Given the description of an element on the screen output the (x, y) to click on. 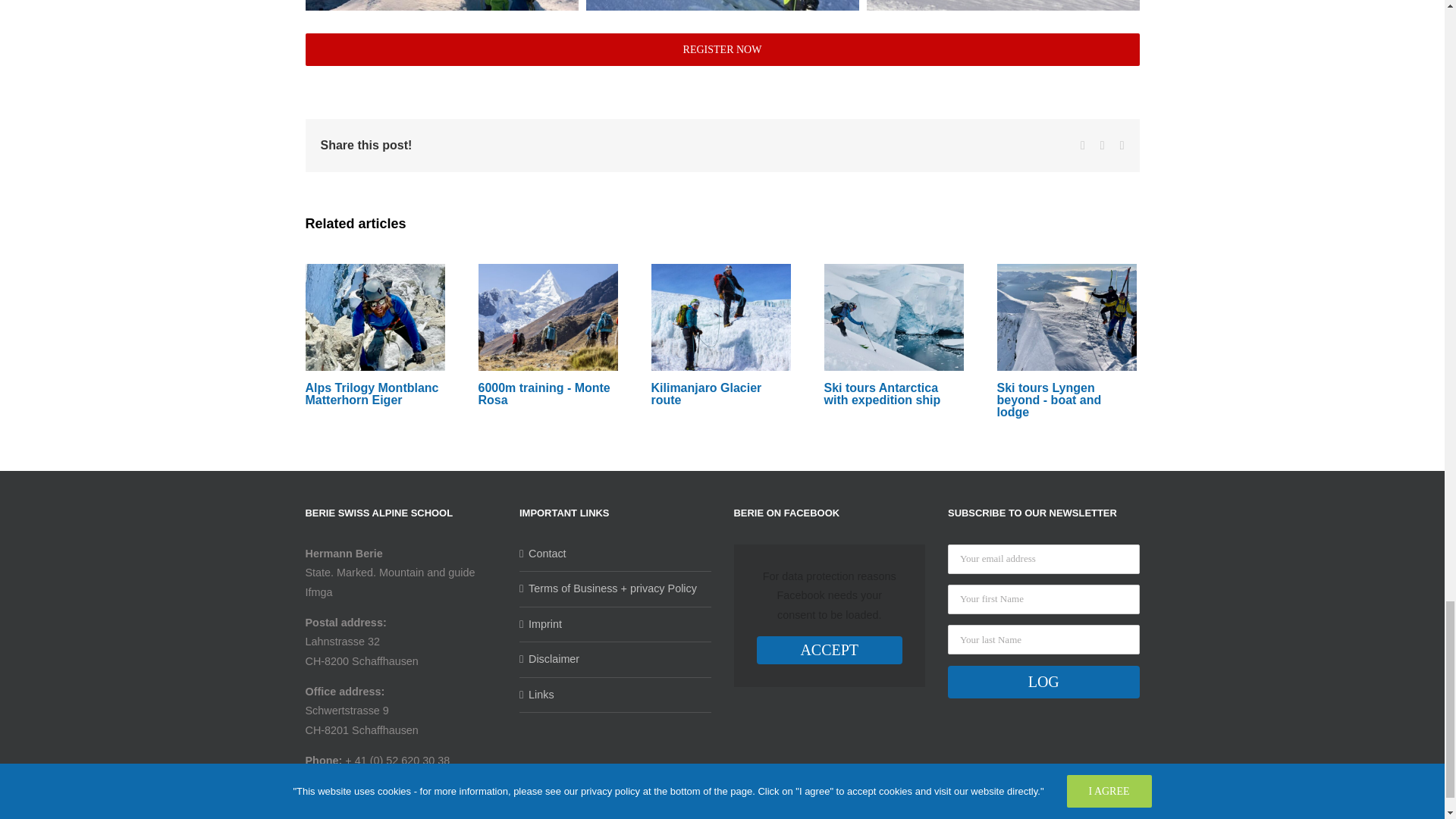
Log (1043, 681)
